Given the description of an element on the screen output the (x, y) to click on. 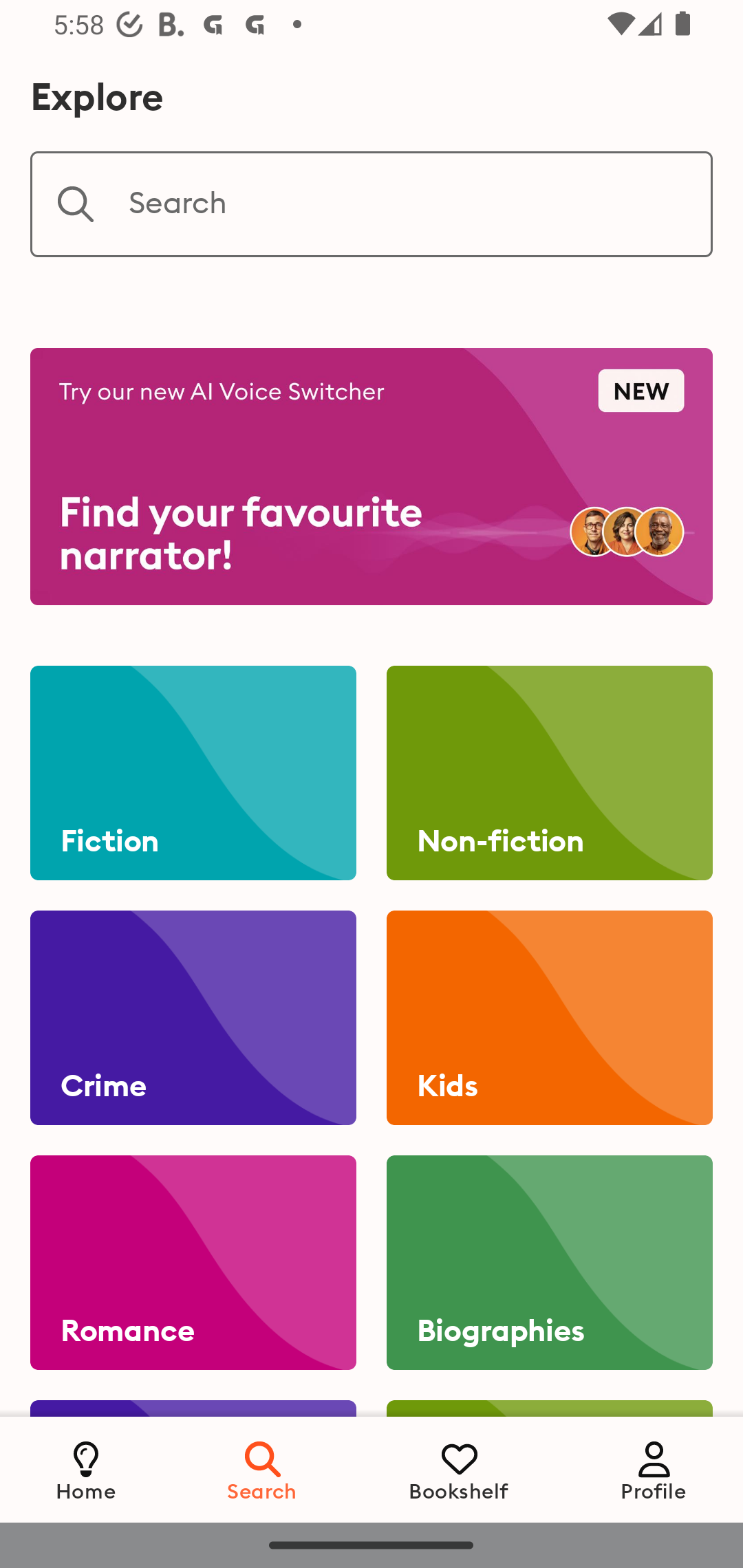
Search (371, 203)
Fiction (193, 772)
Non-fiction (549, 772)
Crime (193, 1018)
Kids (549, 1018)
Romance (193, 1262)
Biographies (549, 1262)
Home (85, 1468)
Search (262, 1468)
Bookshelf (458, 1468)
Profile (653, 1468)
